Given the description of an element on the screen output the (x, y) to click on. 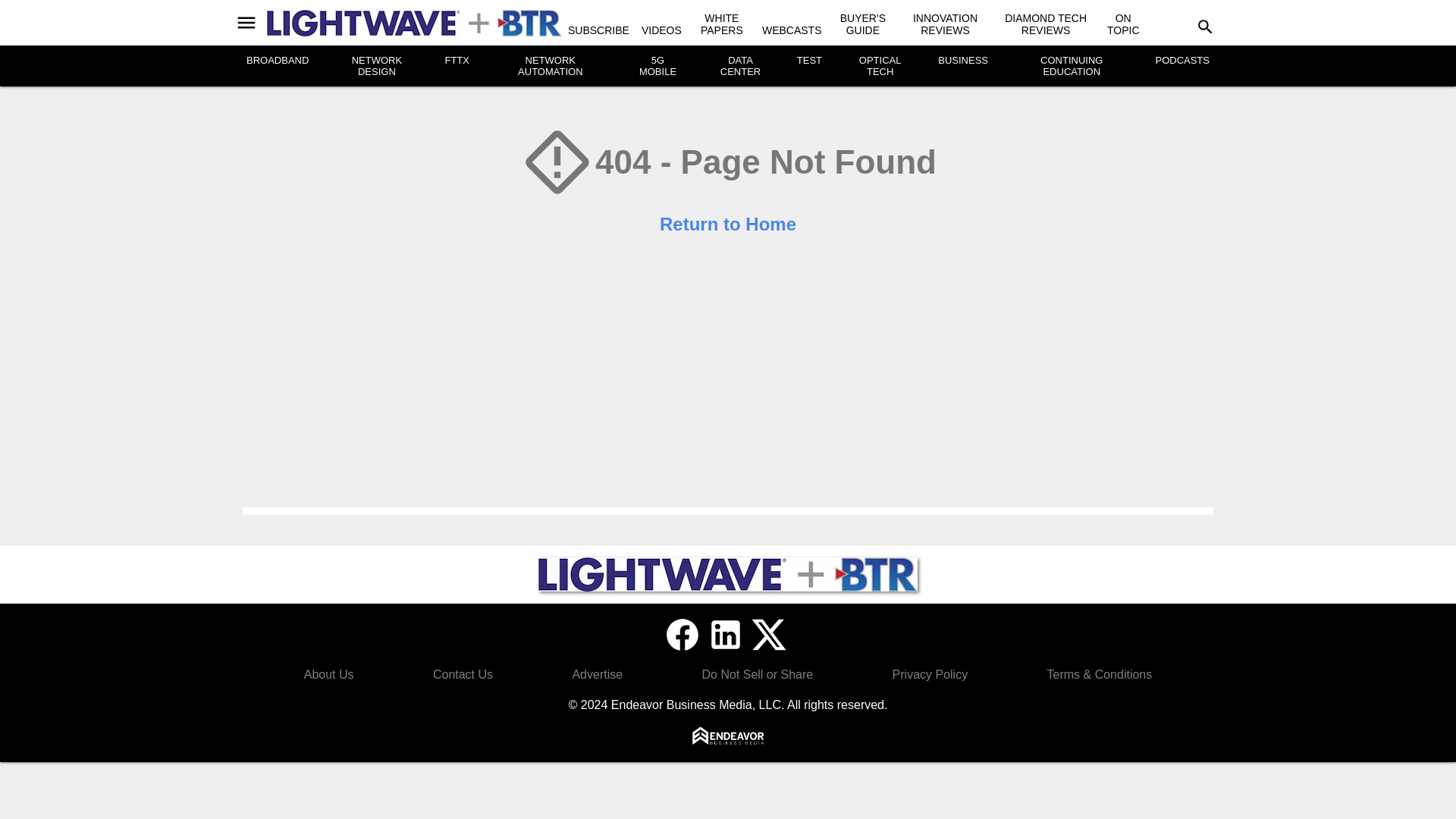
WEBCASTS (791, 30)
BUSINESS (962, 60)
BROADBAND (277, 60)
About Us (328, 674)
CONTINUING EDUCATION (1071, 65)
Return to Home (727, 223)
NETWORK AUTOMATION (550, 65)
OPTICAL TECH (880, 65)
DIAMOND TECH REVIEWS (1045, 24)
DATA CENTER (740, 65)
